Given the description of an element on the screen output the (x, y) to click on. 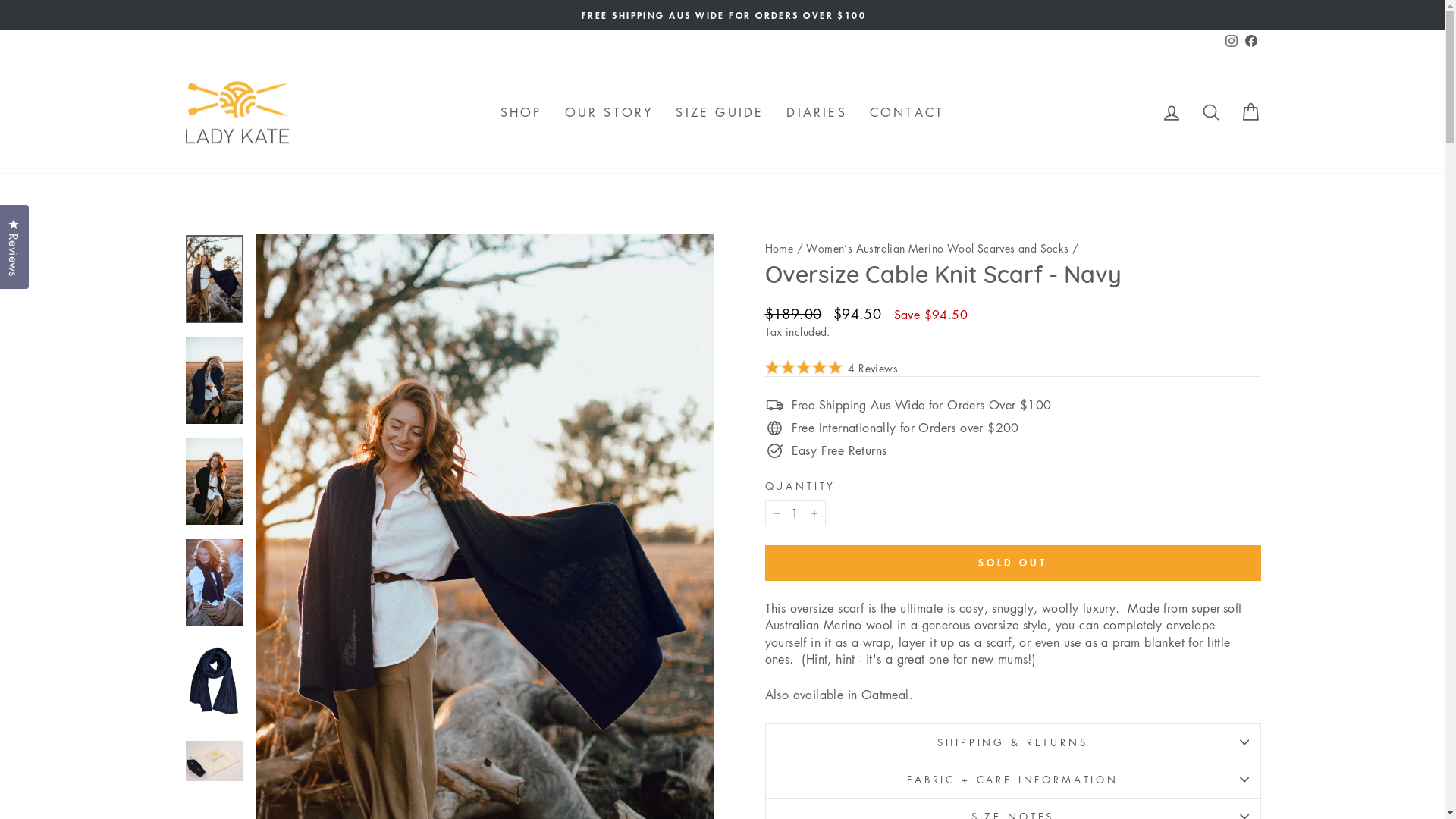
DIARIES Element type: text (816, 112)
Facebook Element type: text (1250, 40)
CONTACT Element type: text (906, 112)
SOLD OUT Element type: text (1012, 562)
SEARCH Element type: text (1210, 112)
SHIPPING & RETURNS Element type: text (1012, 741)
LOG IN Element type: text (1170, 112)
CART Element type: text (1249, 112)
Instagram Element type: text (1230, 40)
Oatmeal Element type: text (885, 694)
FABRIC + CARE INFORMATION Element type: text (1012, 779)
OUR STORY Element type: text (609, 112)
Home Element type: text (778, 247)
SIZE GUIDE Element type: text (719, 112)
+ Element type: text (813, 513)
